Given the description of an element on the screen output the (x, y) to click on. 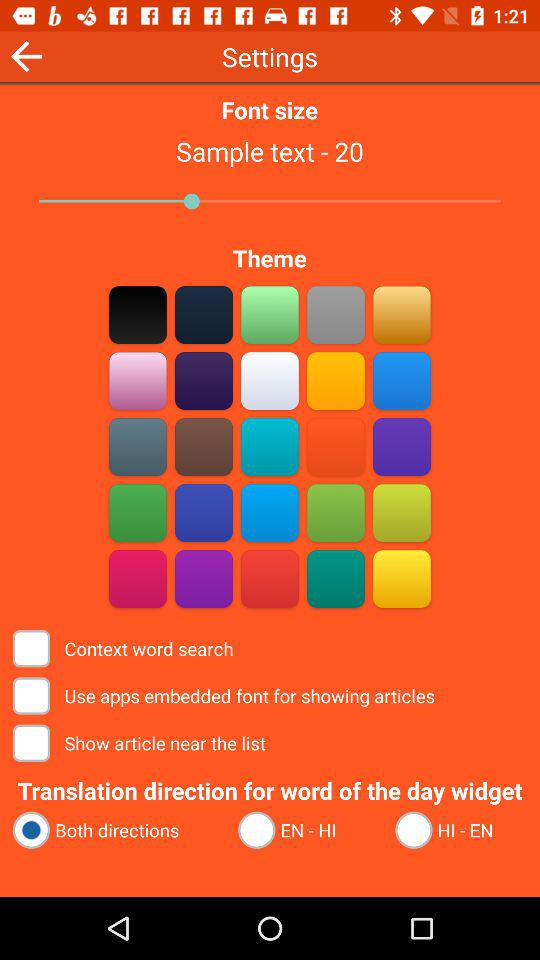
choose light orange (401, 314)
